Given the description of an element on the screen output the (x, y) to click on. 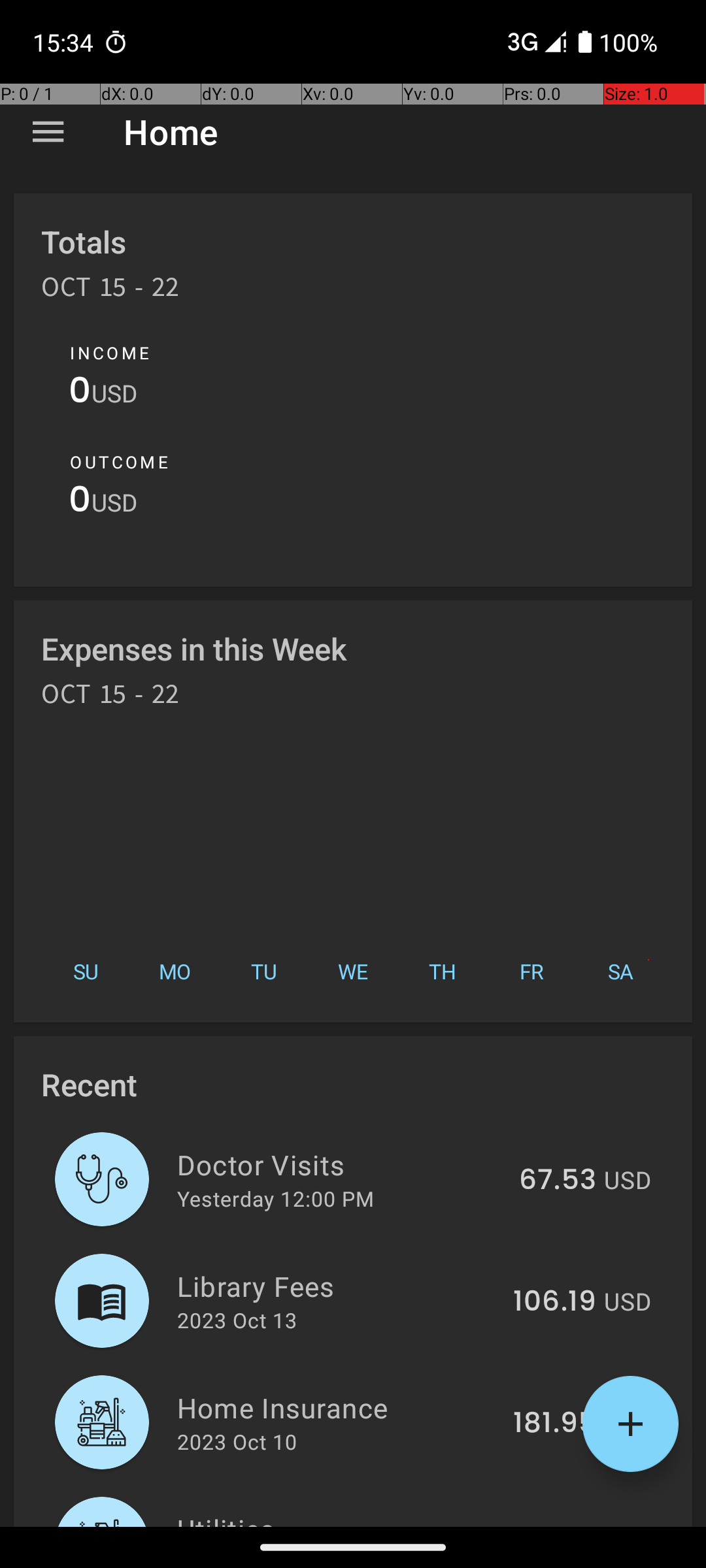
Yesterday 12:00 PM Element type: android.widget.TextView (275, 1198)
67.53 Element type: android.widget.TextView (557, 1180)
106.19 Element type: android.widget.TextView (554, 1301)
Home Insurance Element type: android.widget.TextView (337, 1407)
181.95 Element type: android.widget.TextView (554, 1423)
Utilities Element type: android.widget.TextView (332, 1518)
274.34 Element type: android.widget.TextView (549, 1524)
